Given the description of an element on the screen output the (x, y) to click on. 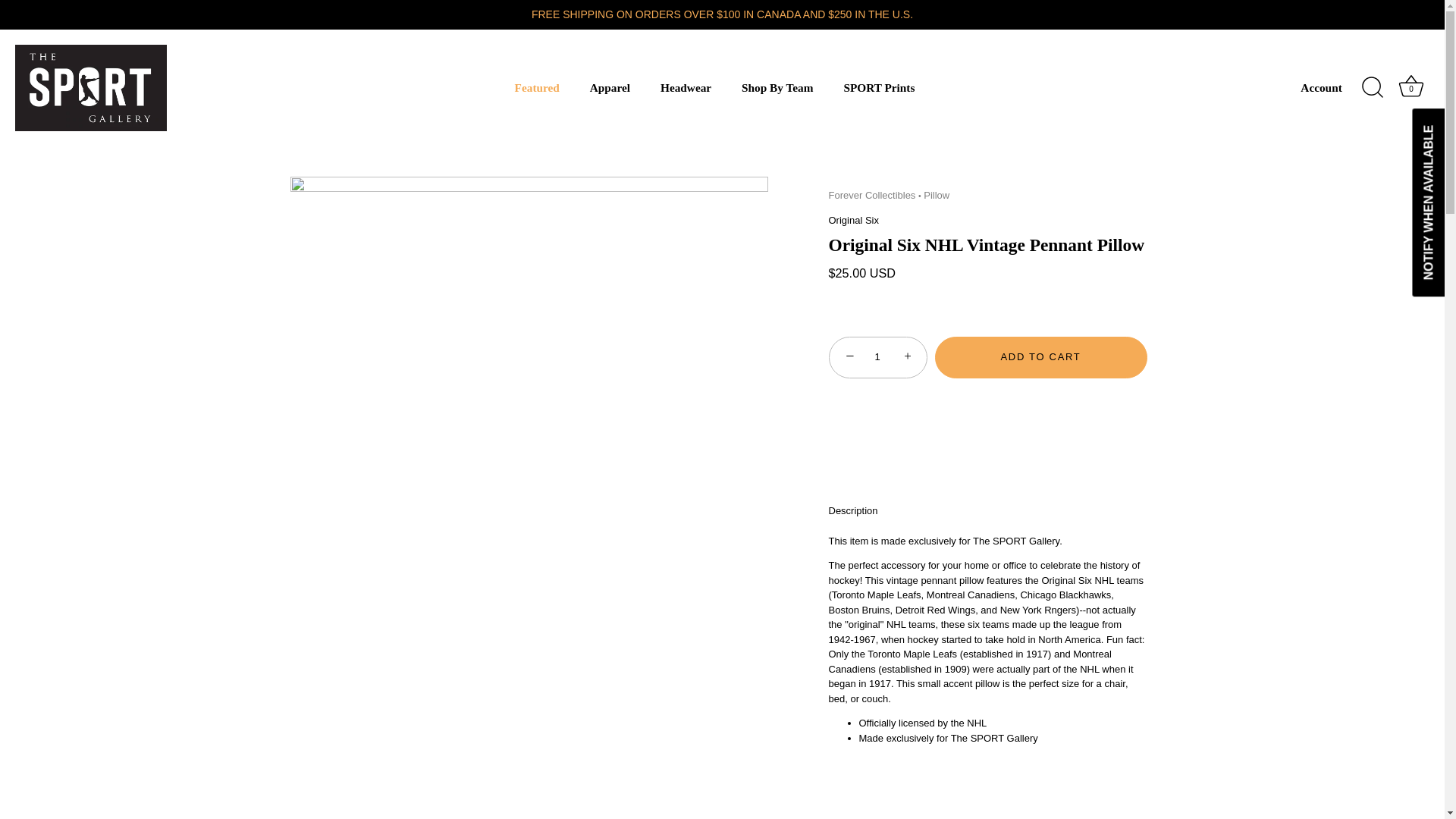
Featured (536, 88)
Apparel (609, 88)
Basket (1410, 86)
Headwear (685, 88)
